Given the description of an element on the screen output the (x, y) to click on. 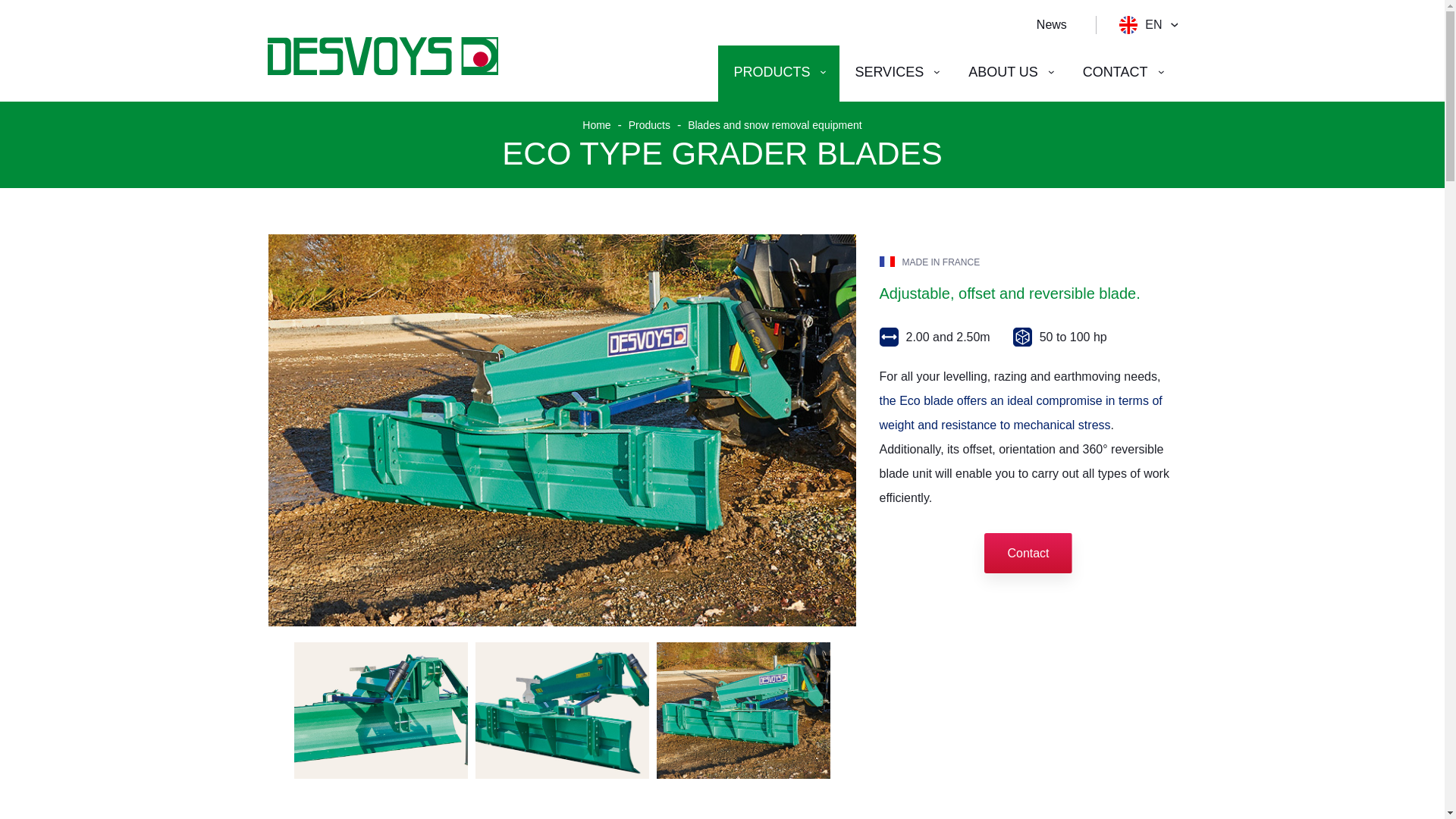
Products (648, 124)
PRODUCTS (778, 73)
CONTACT (1122, 73)
Products (648, 124)
Home (596, 124)
Home (596, 124)
Desvoys (381, 55)
Blades and snow removal equipment (774, 124)
ABOUT US (1010, 73)
News (1050, 24)
SERVICES (896, 73)
Blades and snow removal equipment (774, 124)
Contact (1027, 553)
